Given the description of an element on the screen output the (x, y) to click on. 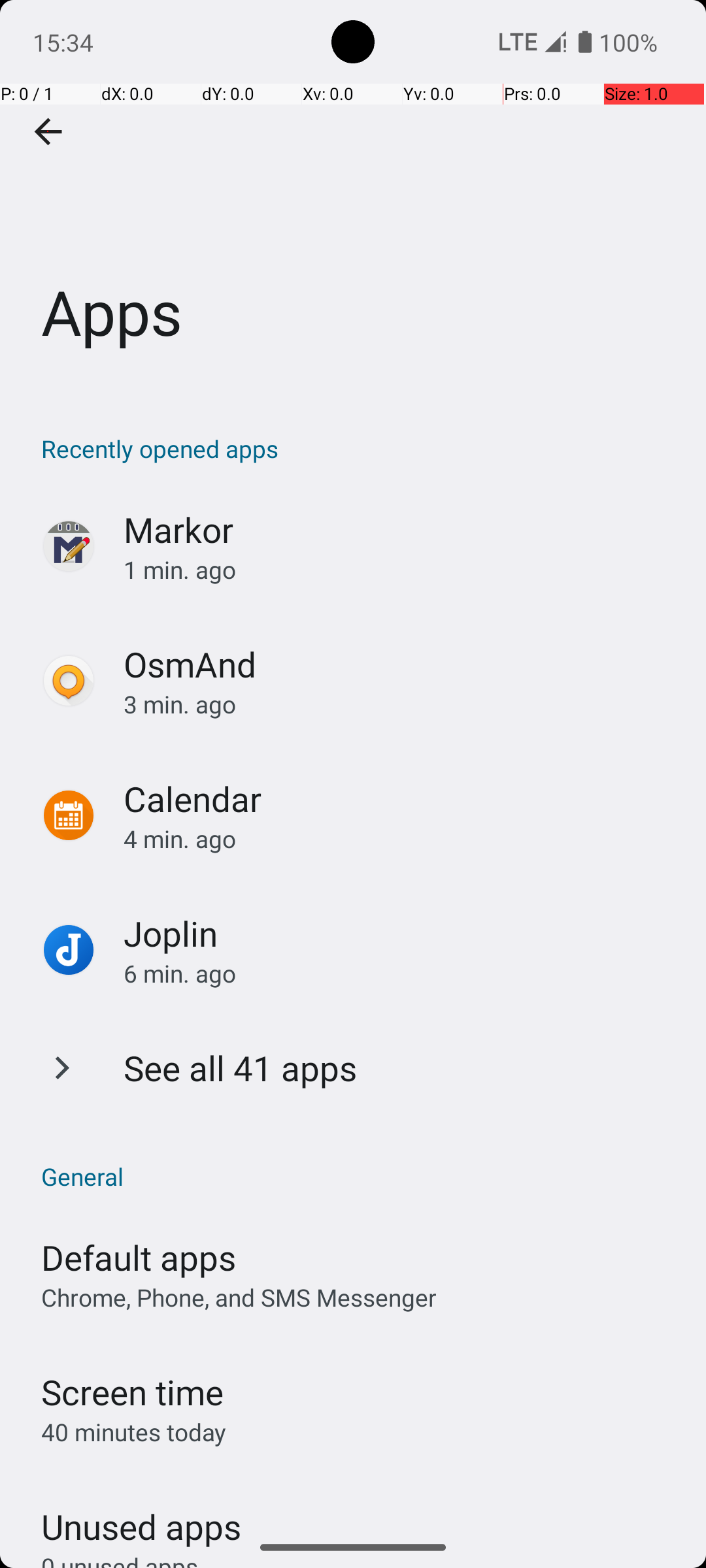
3 min. ago Element type: android.widget.TextView (400, 703)
4 min. ago Element type: android.widget.TextView (400, 838)
6 min. ago Element type: android.widget.TextView (400, 972)
40 minutes today Element type: android.widget.TextView (133, 1431)
